Given the description of an element on the screen output the (x, y) to click on. 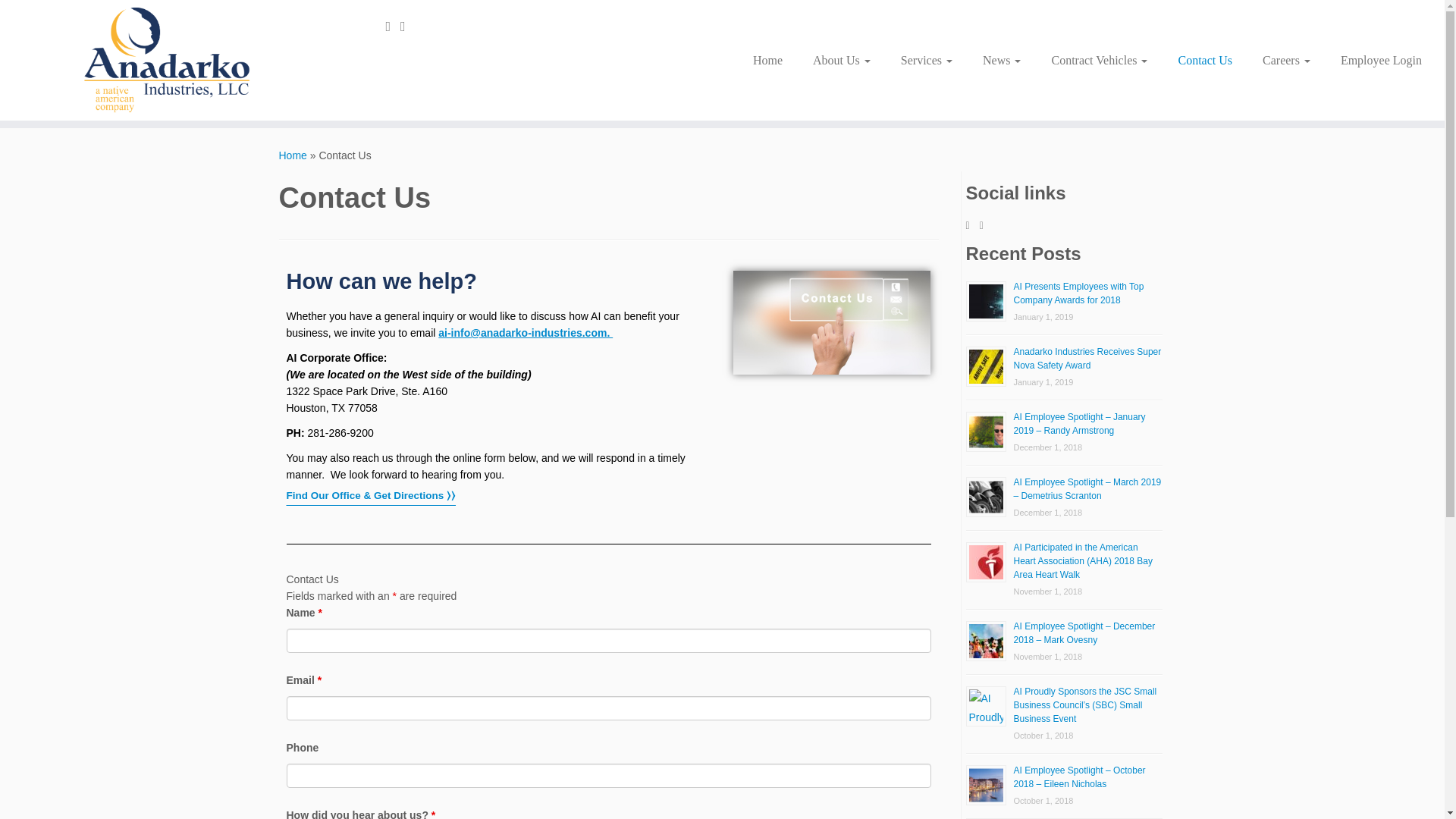
Home (293, 155)
About Us (841, 60)
Services (926, 60)
AI Presents Employees with Top Company Awards for 2018 (1077, 293)
Contract Vehicles (1098, 60)
Employee Login (1373, 60)
Careers (1285, 60)
Contact Us (1204, 60)
Follow me on LinkedIn (407, 26)
Home (767, 60)
